Given the description of an element on the screen output the (x, y) to click on. 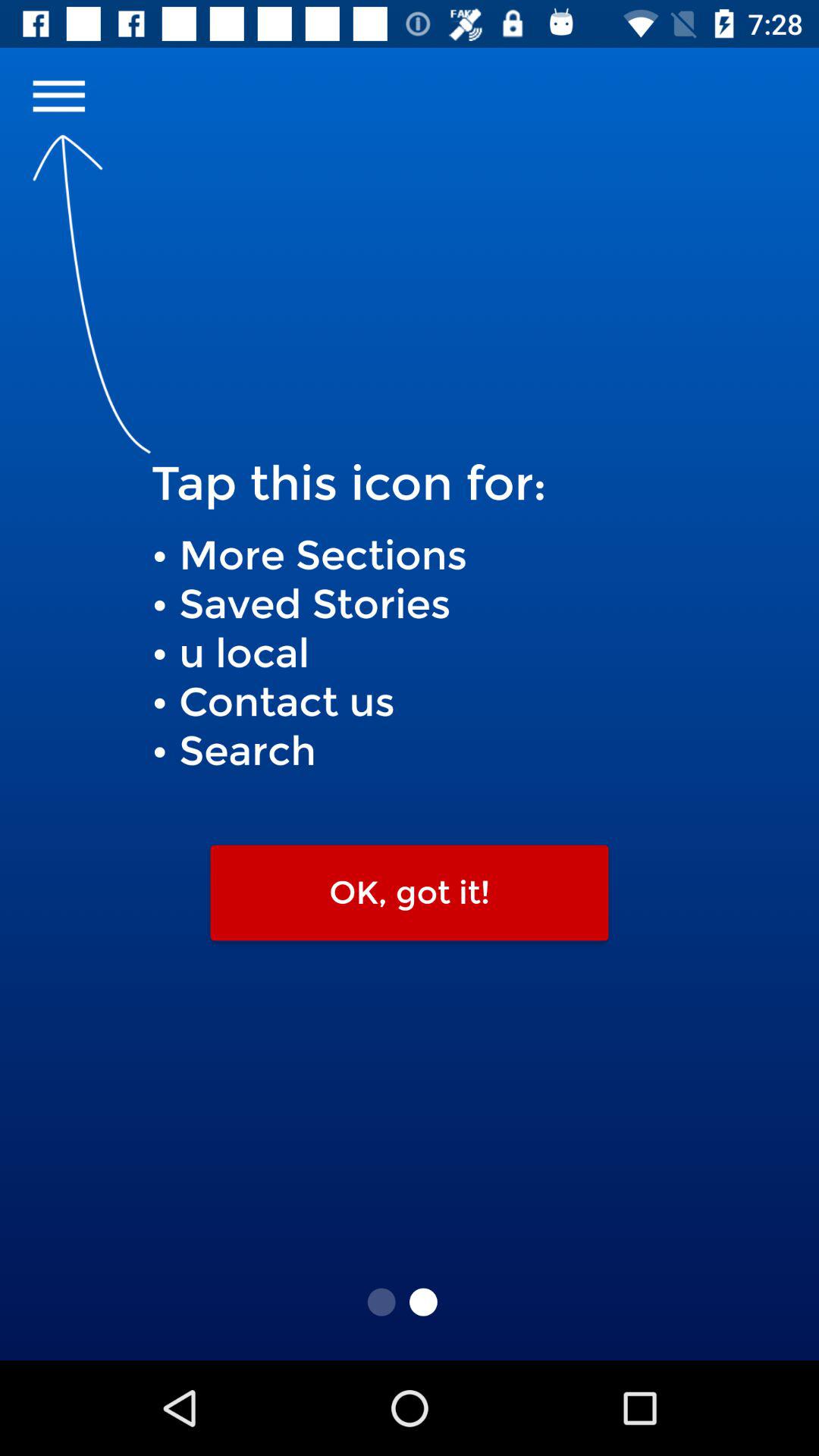
press the ok, got it! icon (409, 892)
